Given the description of an element on the screen output the (x, y) to click on. 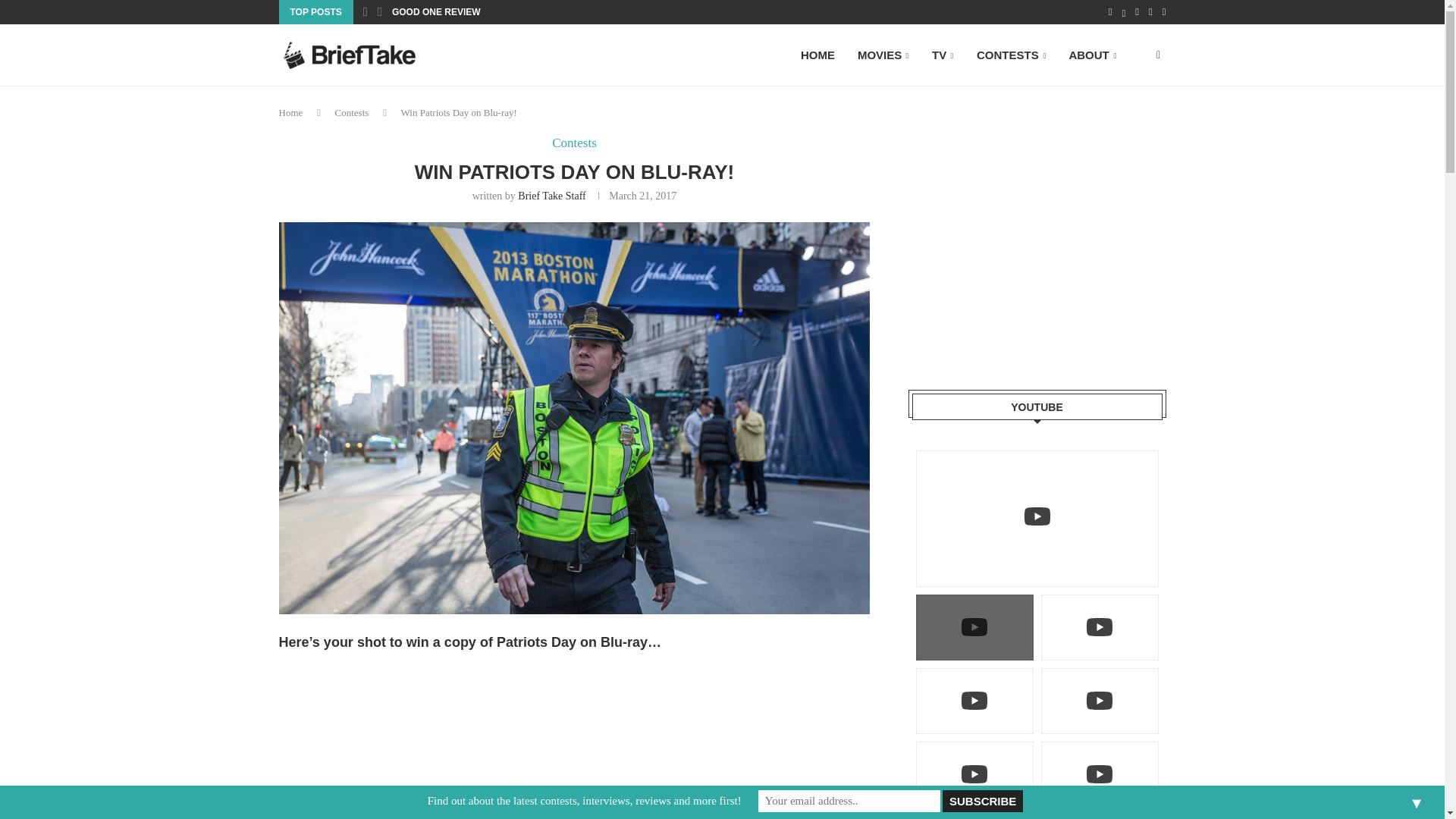
GOOD ONE REVIEW (435, 12)
Subscribe (982, 801)
Home (290, 112)
Contests (351, 112)
Contests (573, 142)
Brief Take Staff (551, 195)
CONTESTS (1010, 55)
